Given the description of an element on the screen output the (x, y) to click on. 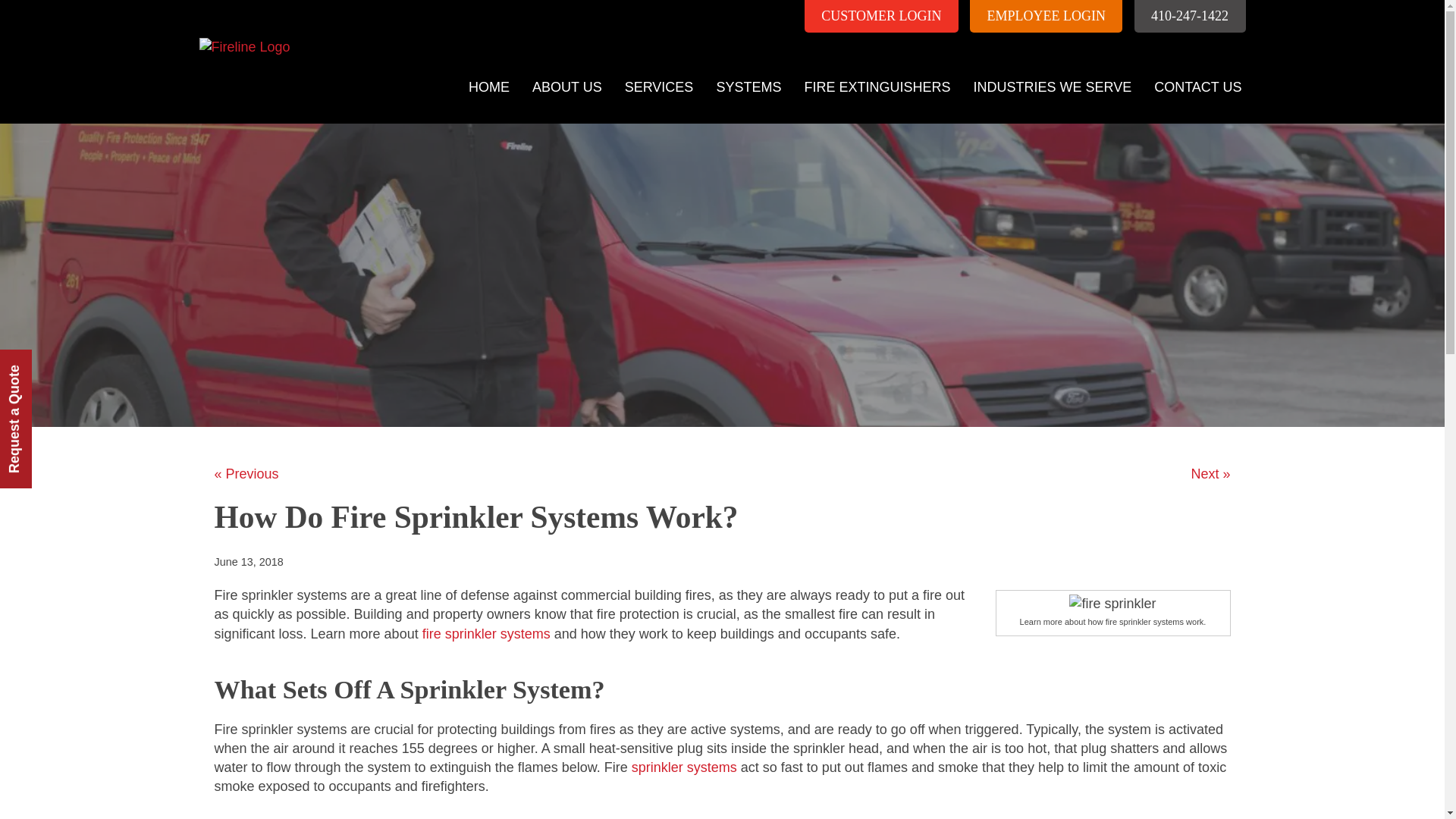
FIRE EXTINGUISHERS (876, 87)
410-247-1422 (1190, 16)
EMPLOYEE LOGIN (1045, 16)
INDUSTRIES WE SERVE (1051, 87)
CUSTOMER LOGIN (881, 16)
SERVICES (658, 87)
Fireline (239, 28)
ABOUT US (566, 87)
HOME (489, 87)
SYSTEMS (748, 87)
